Given the description of an element on the screen output the (x, y) to click on. 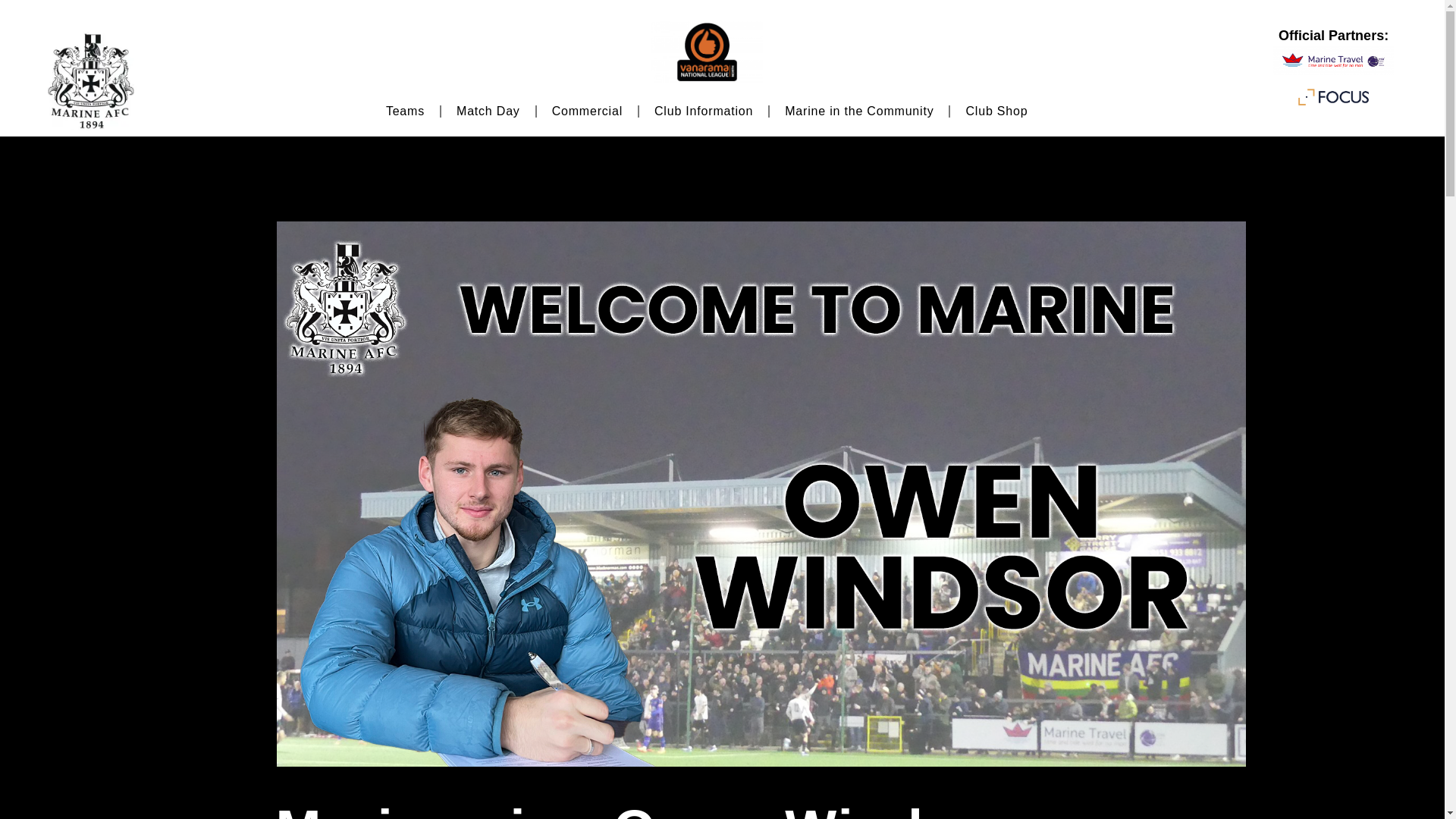
Club Information (703, 111)
Teams (405, 111)
Commercial (587, 111)
Marine in the Community (859, 111)
Match Day (488, 111)
